Given the description of an element on the screen output the (x, y) to click on. 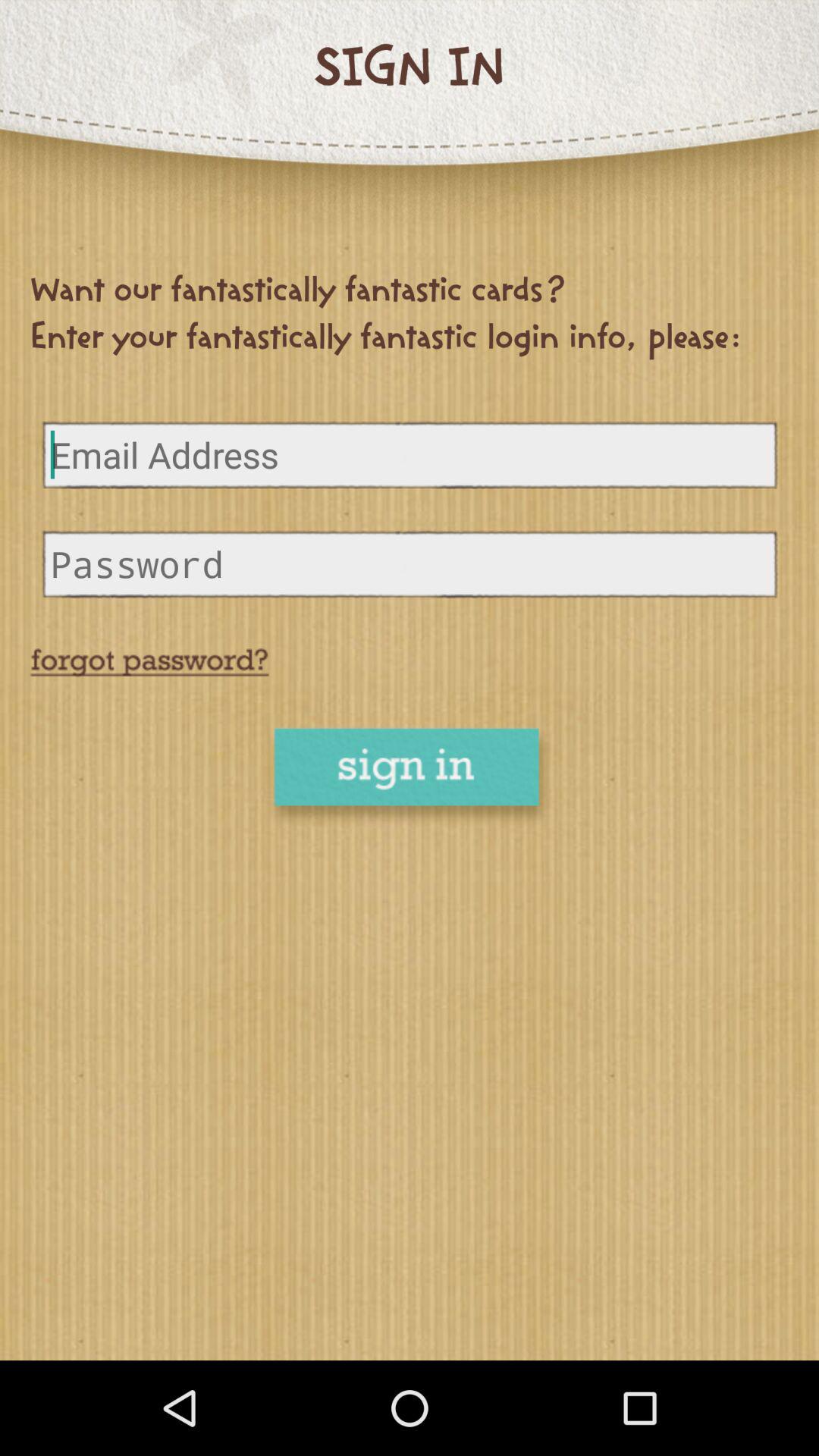
enter email address (409, 454)
